Given the description of an element on the screen output the (x, y) to click on. 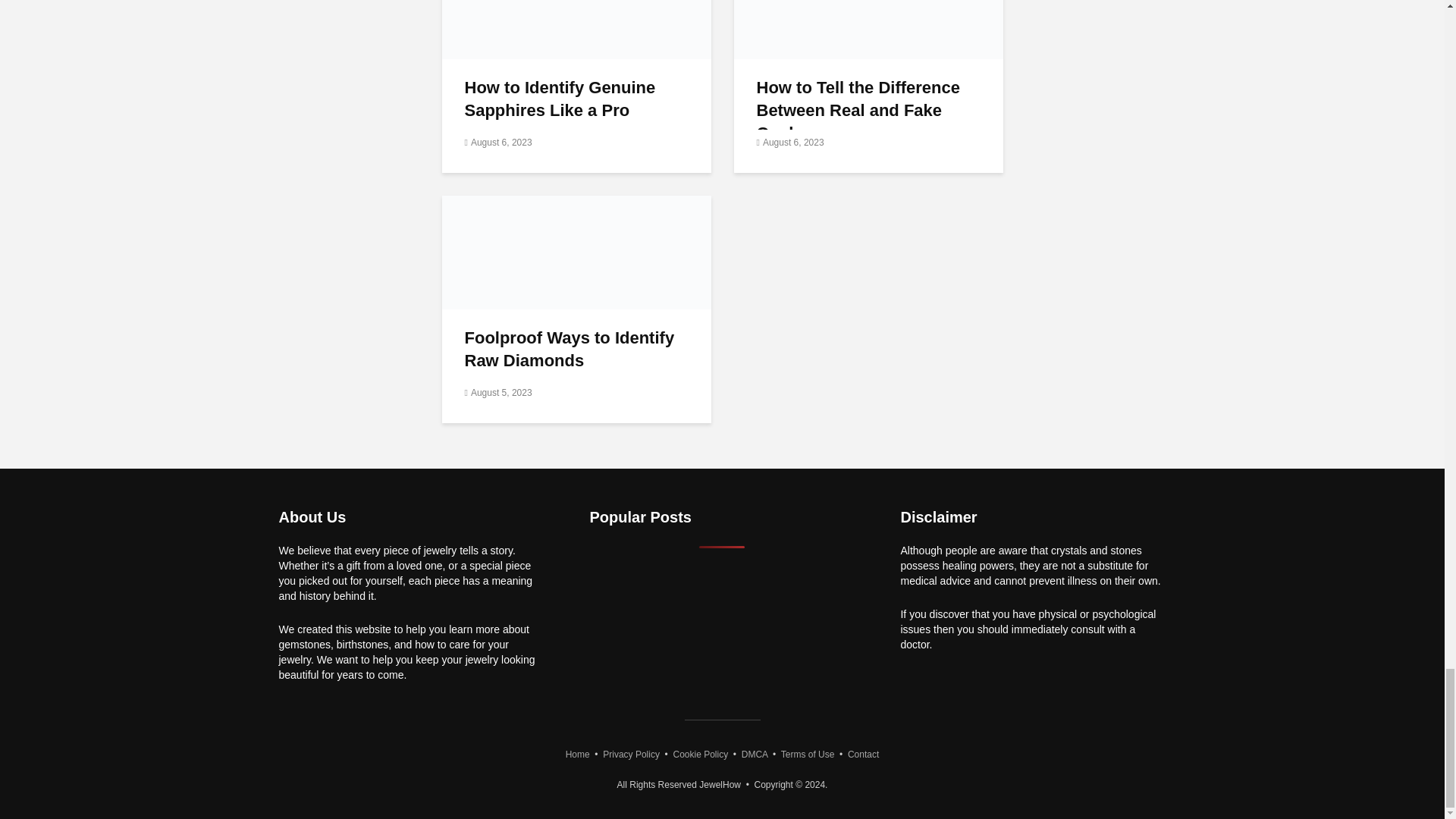
Foolproof Ways to Identify Raw Diamonds (575, 250)
How to Tell the Difference Between Real and Fake Opals (868, 3)
How to Identify Genuine Sapphires Like a Pro (575, 3)
